Given the description of an element on the screen output the (x, y) to click on. 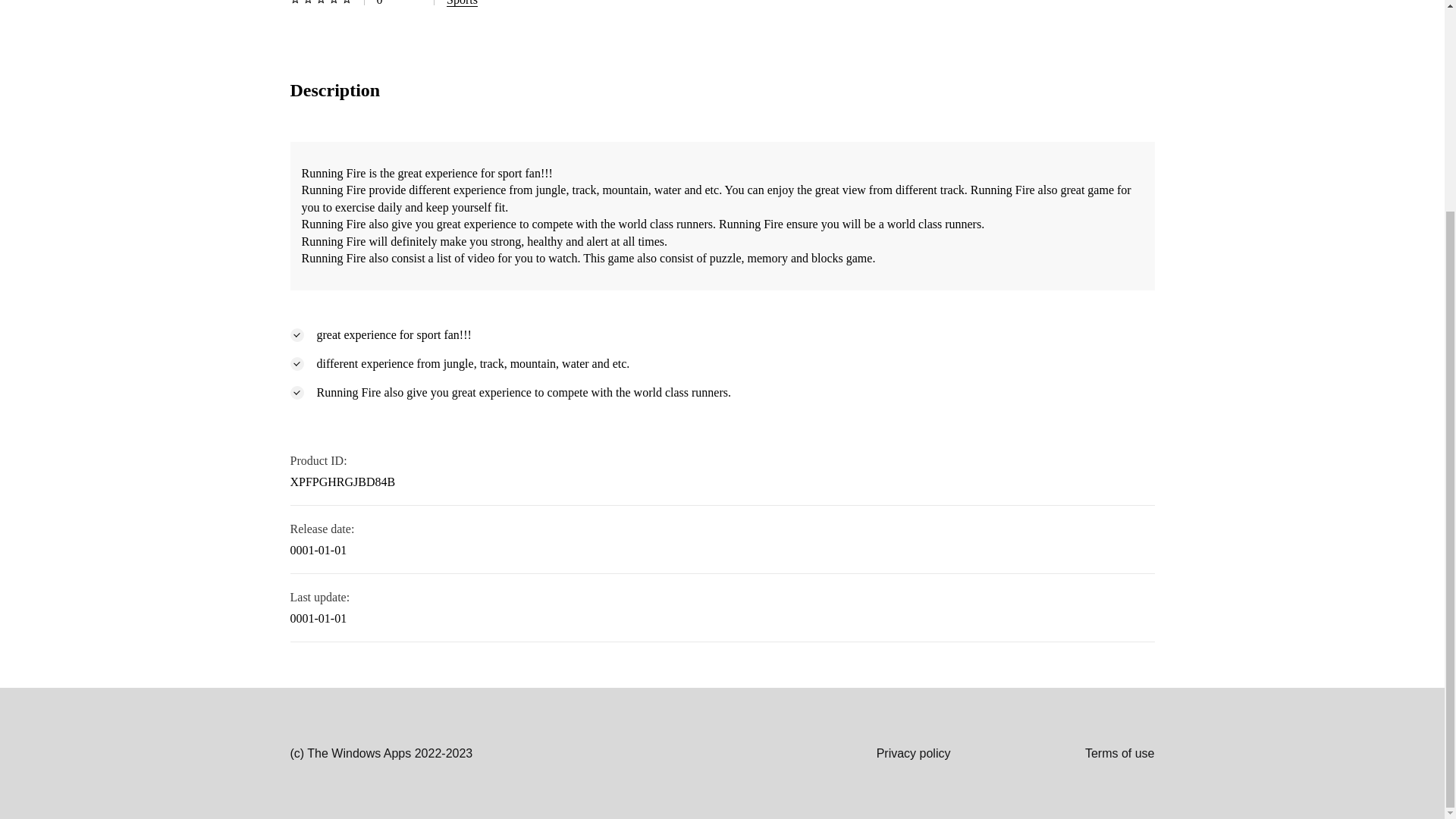
Privacy policy (845, 753)
Terms of use (1052, 753)
Sports (461, 2)
